Given the description of an element on the screen output the (x, y) to click on. 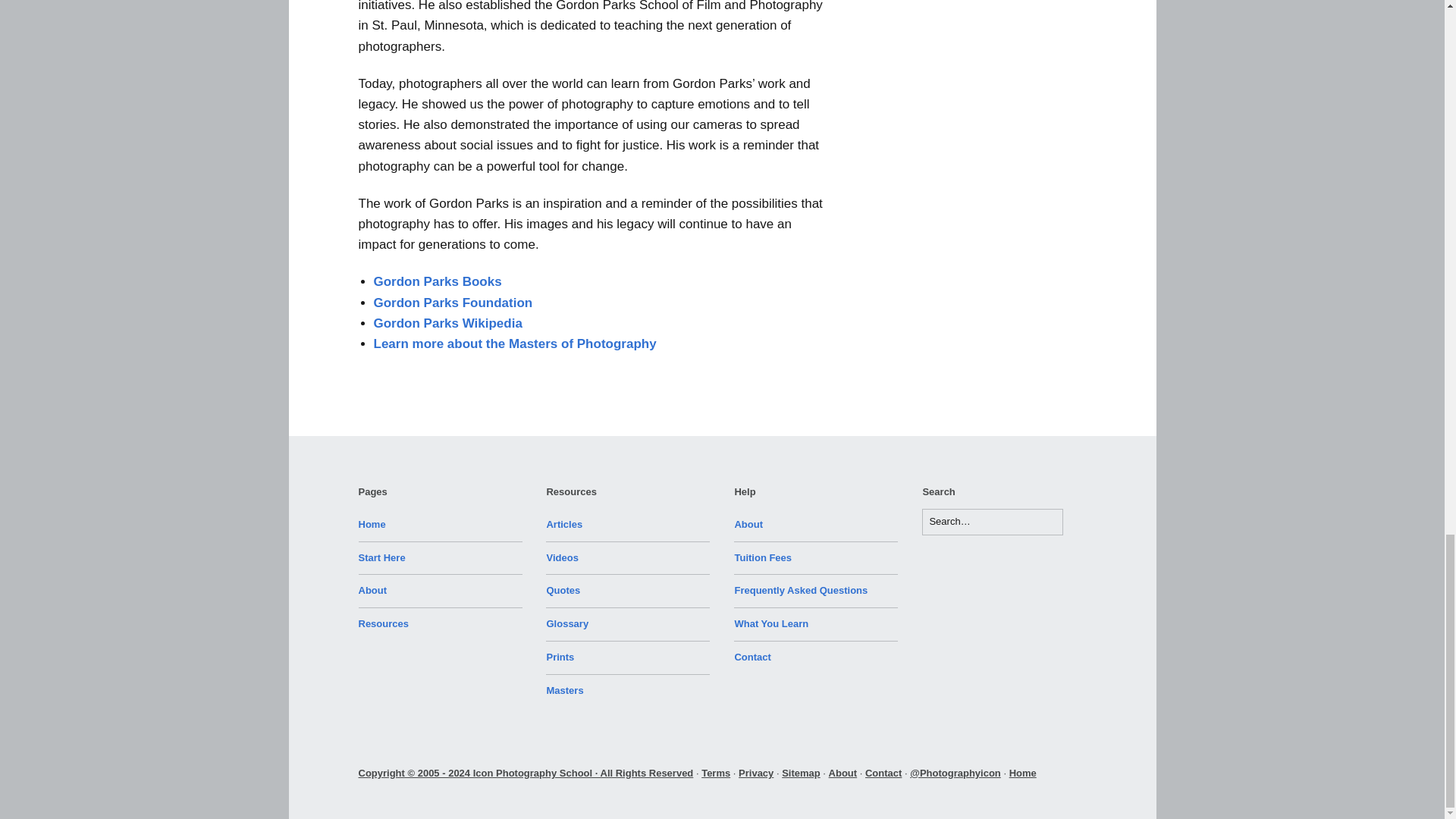
Photography Quotes (562, 590)
Photography Videos (562, 557)
Photography Prints (559, 656)
Photography Glossary (567, 623)
Photography Articles (564, 523)
Glossary (567, 623)
Home (371, 523)
Press Enter to submit your search (991, 521)
